Given the description of an element on the screen output the (x, y) to click on. 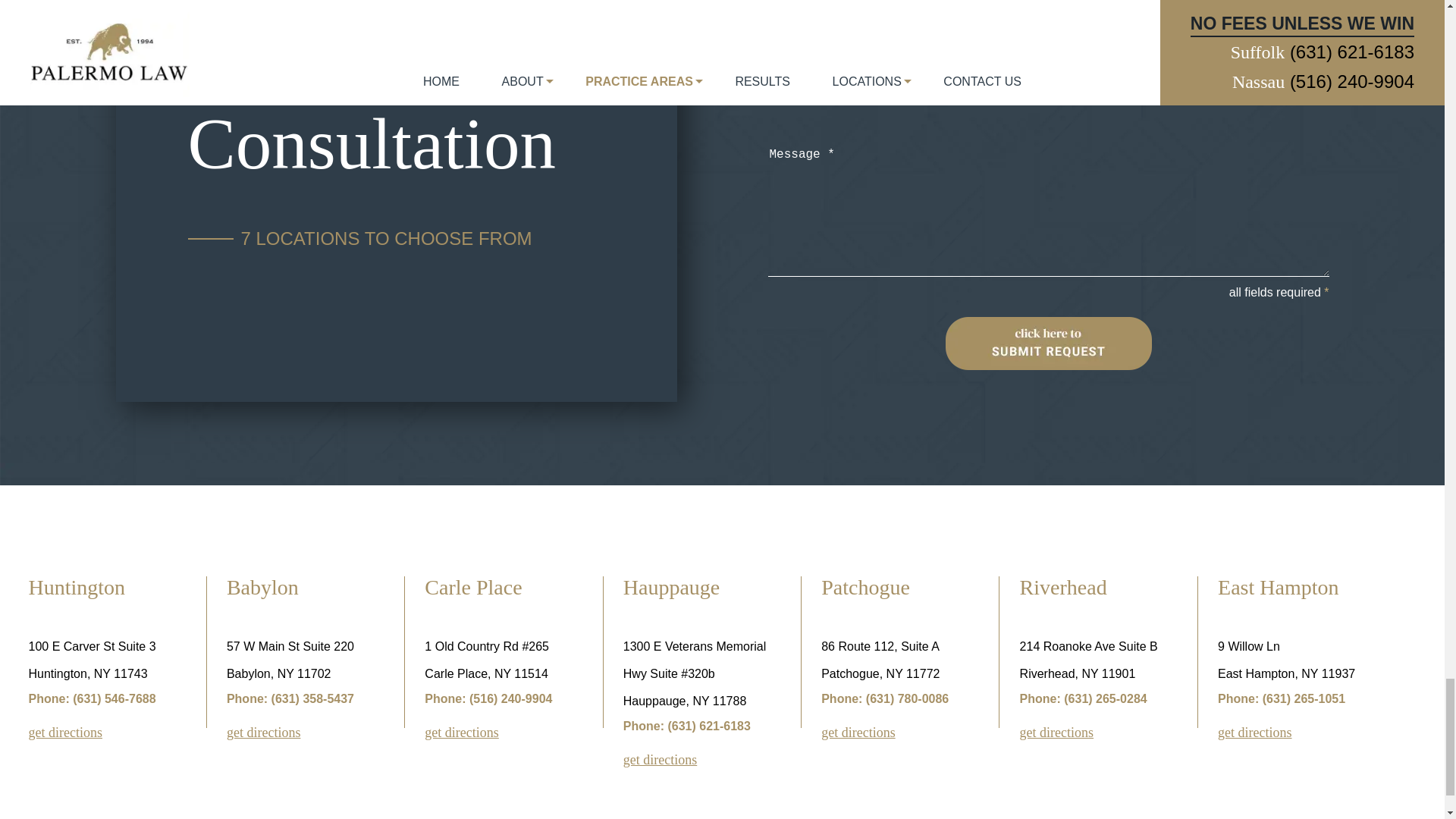
click here to submit request (1047, 343)
